Given the description of an element on the screen output the (x, y) to click on. 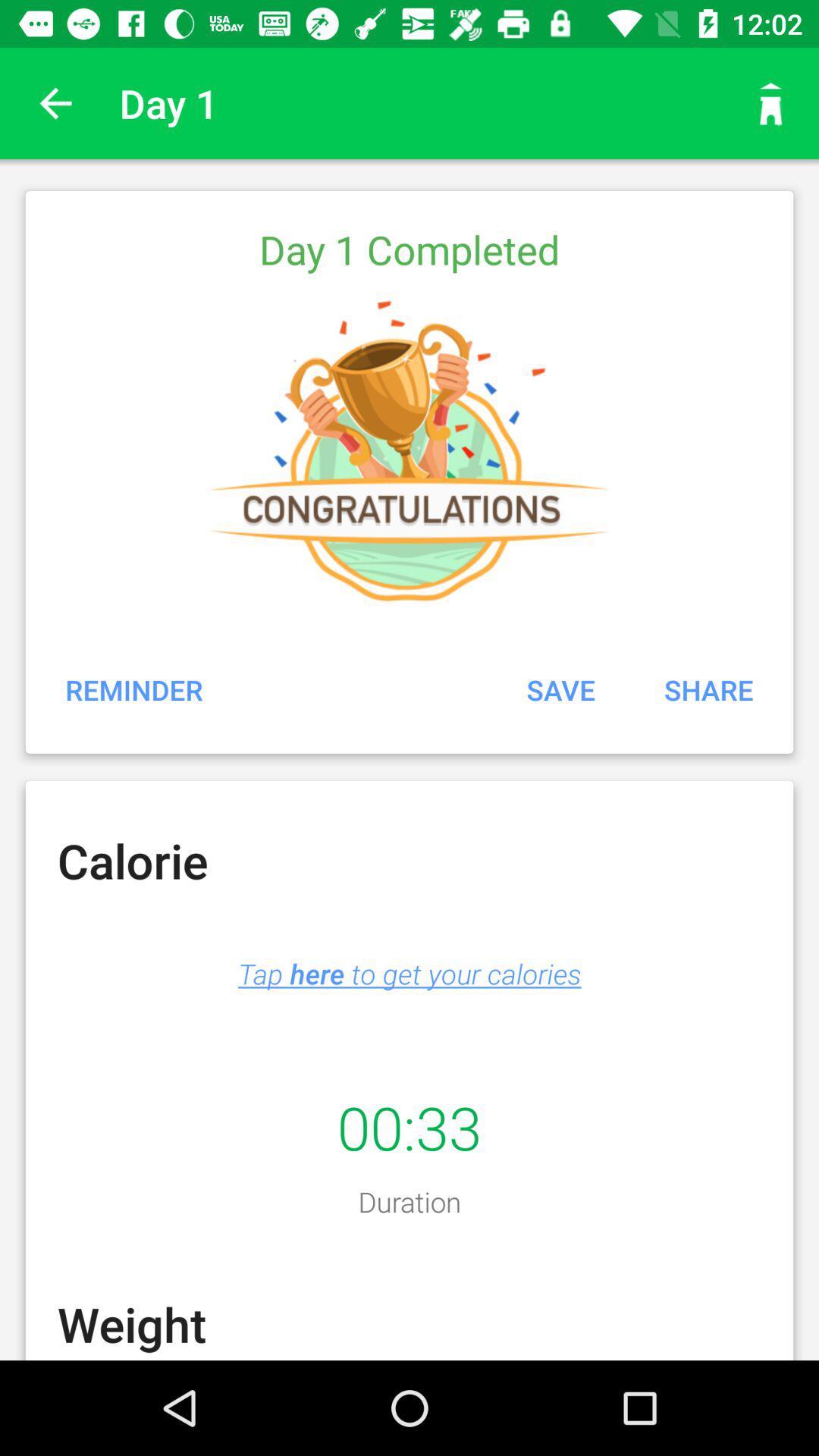
turn on item to the right of the save (708, 689)
